Given the description of an element on the screen output the (x, y) to click on. 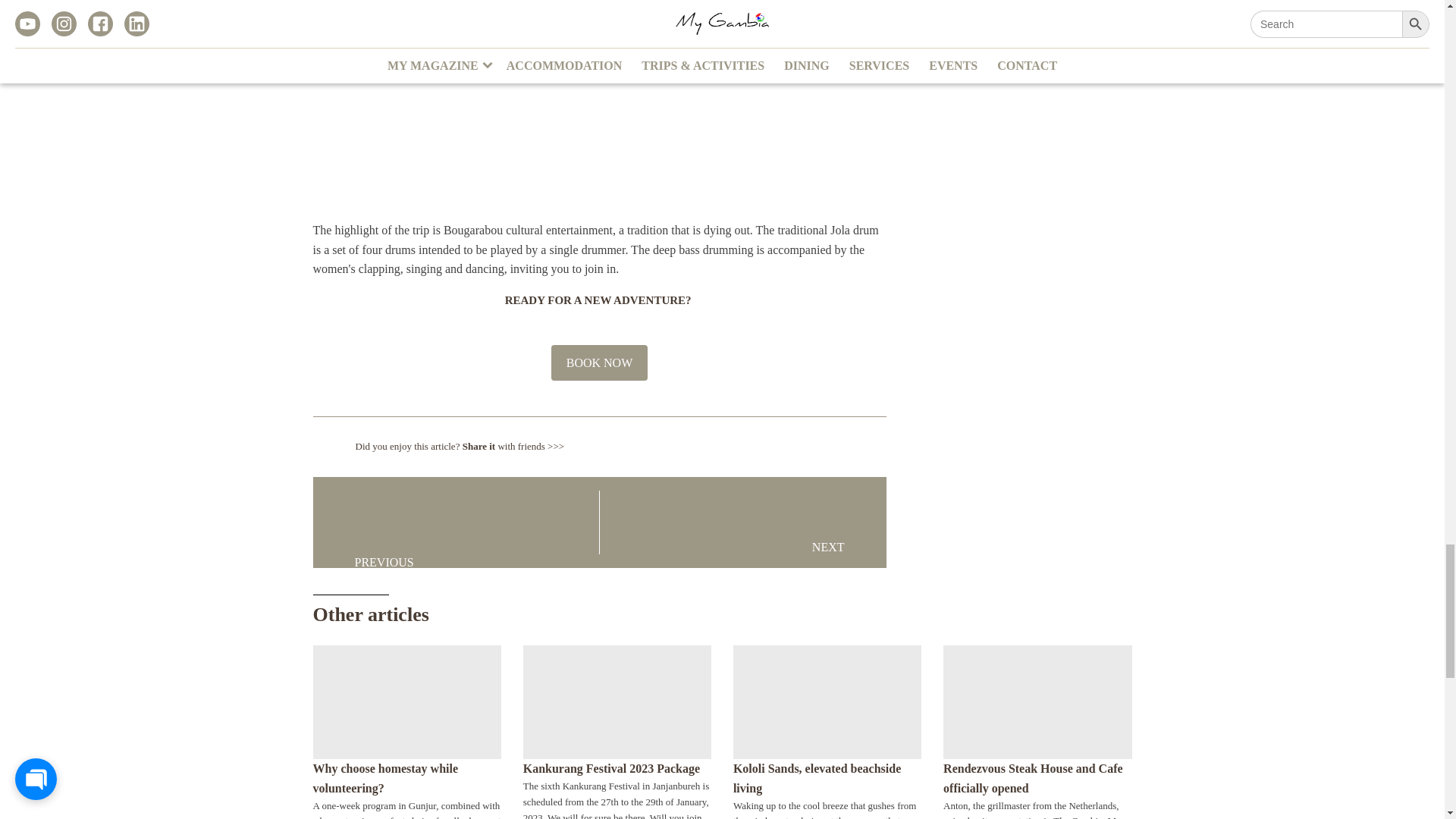
Share on LinkedIn (775, 445)
BOOK NOW (599, 362)
Pin it (804, 445)
Share on Facebook (832, 445)
Share on Twitter (748, 445)
